Given the description of an element on the screen output the (x, y) to click on. 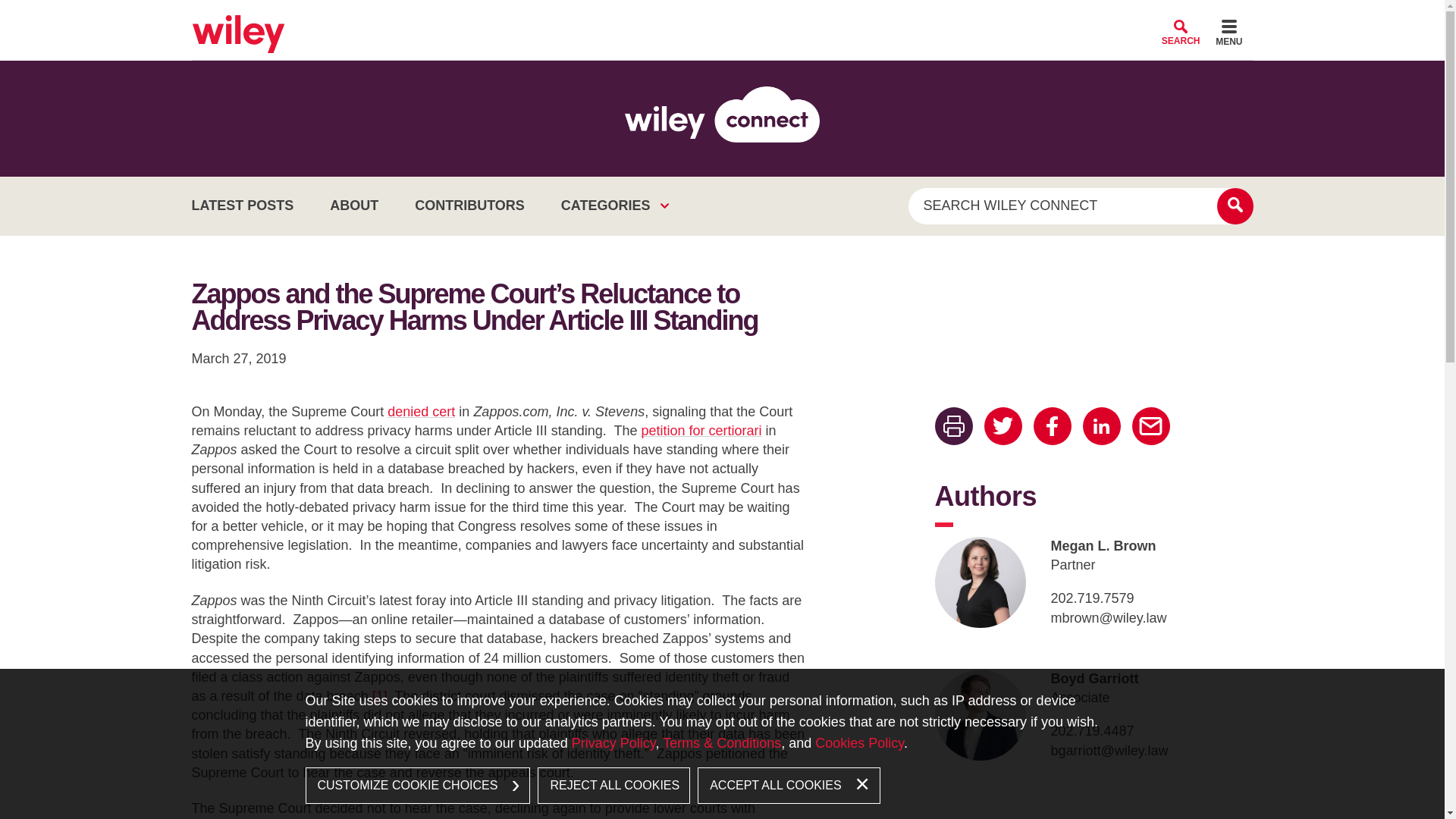
SEARCH (1180, 32)
Twitter (1003, 426)
Main Menu (676, 17)
Print (953, 426)
Menu (1228, 34)
Cookie Settings (663, 17)
Menu (676, 17)
Facebook (1051, 426)
Main Content (669, 17)
Email (1150, 426)
LinkedIn (1102, 426)
MENU (1228, 34)
